Given the description of an element on the screen output the (x, y) to click on. 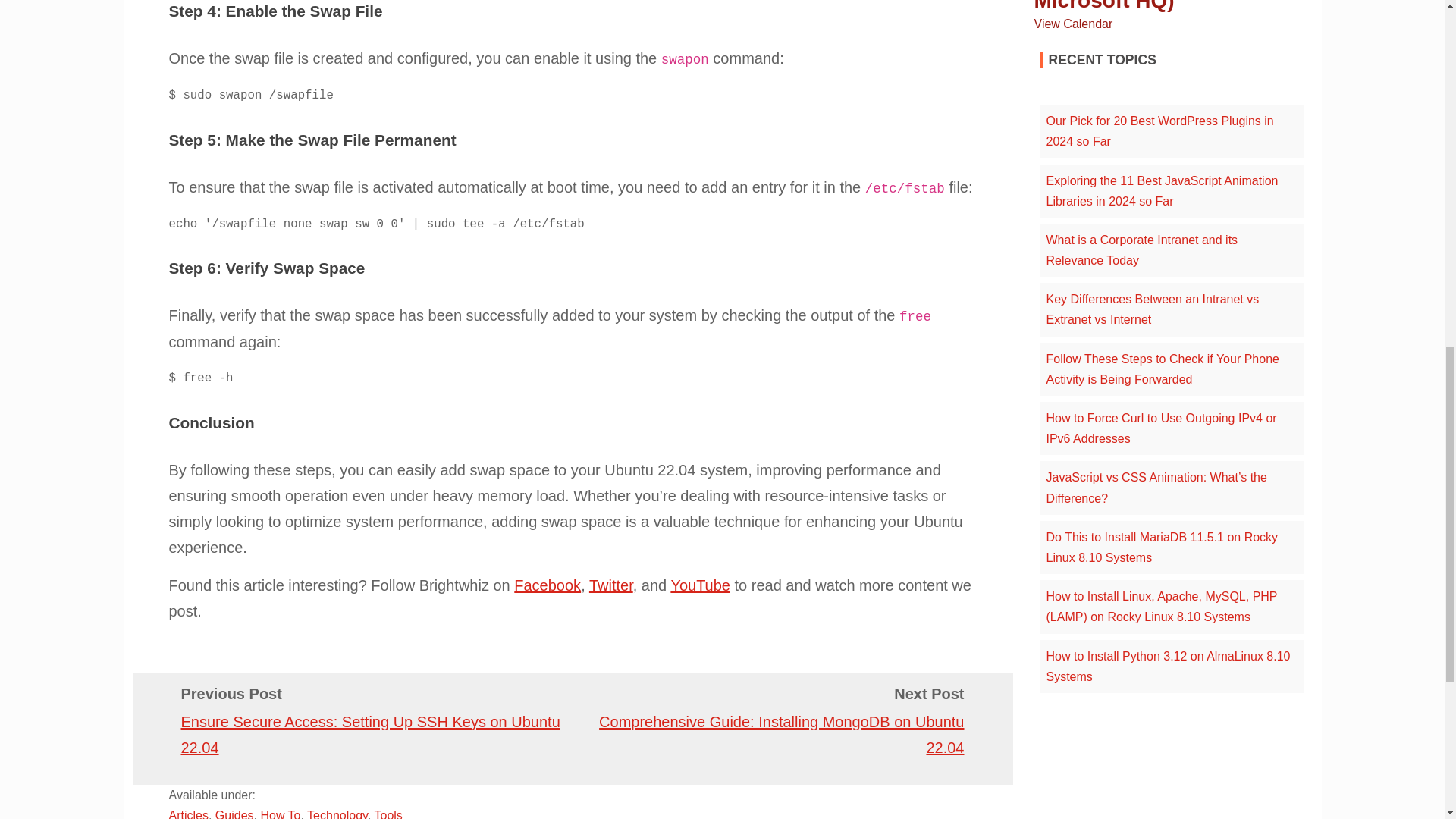
Comprehensive Guide: Installing MongoDB on Ubuntu 22.04 (780, 734)
How To (279, 814)
Articles (188, 814)
YouTube (699, 585)
Facebook (546, 585)
Technology (337, 814)
Twitter (611, 585)
Guides (234, 814)
Ensure Secure Access: Setting Up SSH Keys on Ubuntu 22.04 (369, 734)
Tools (387, 814)
View more events. (1073, 23)
